Given the description of an element on the screen output the (x, y) to click on. 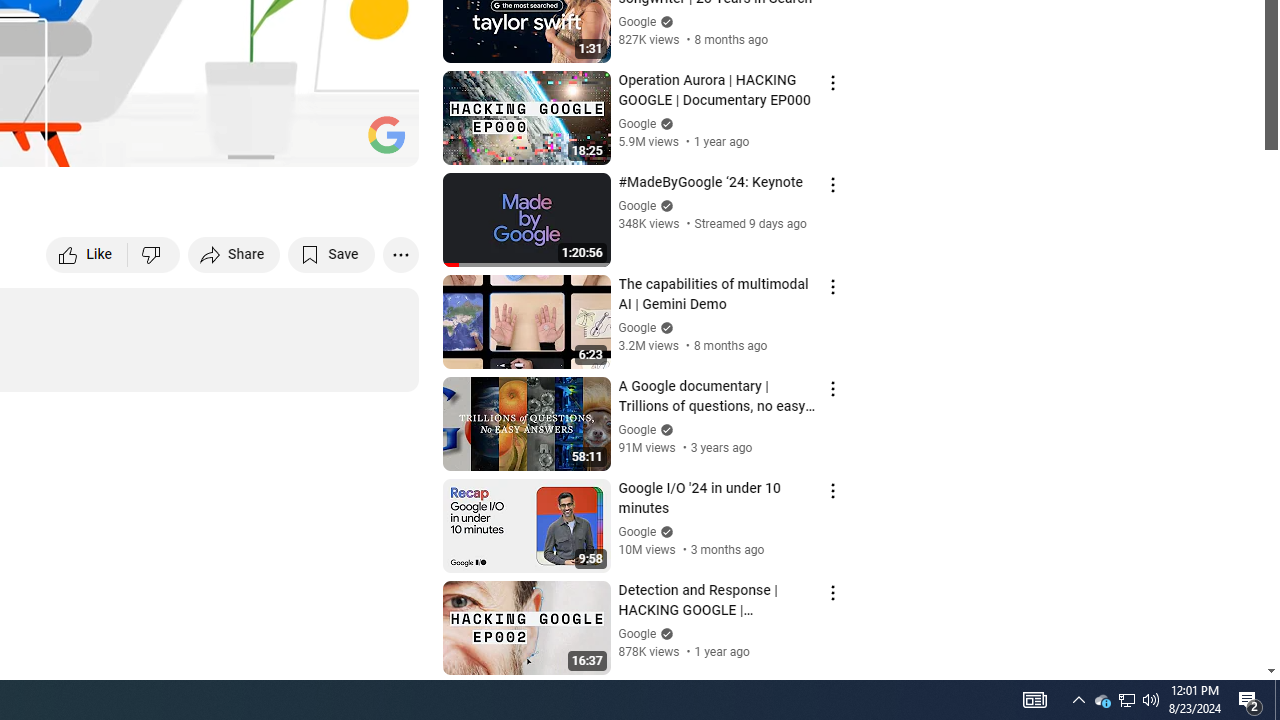
Like (87, 254)
Channel watermark (386, 134)
